Given the description of an element on the screen output the (x, y) to click on. 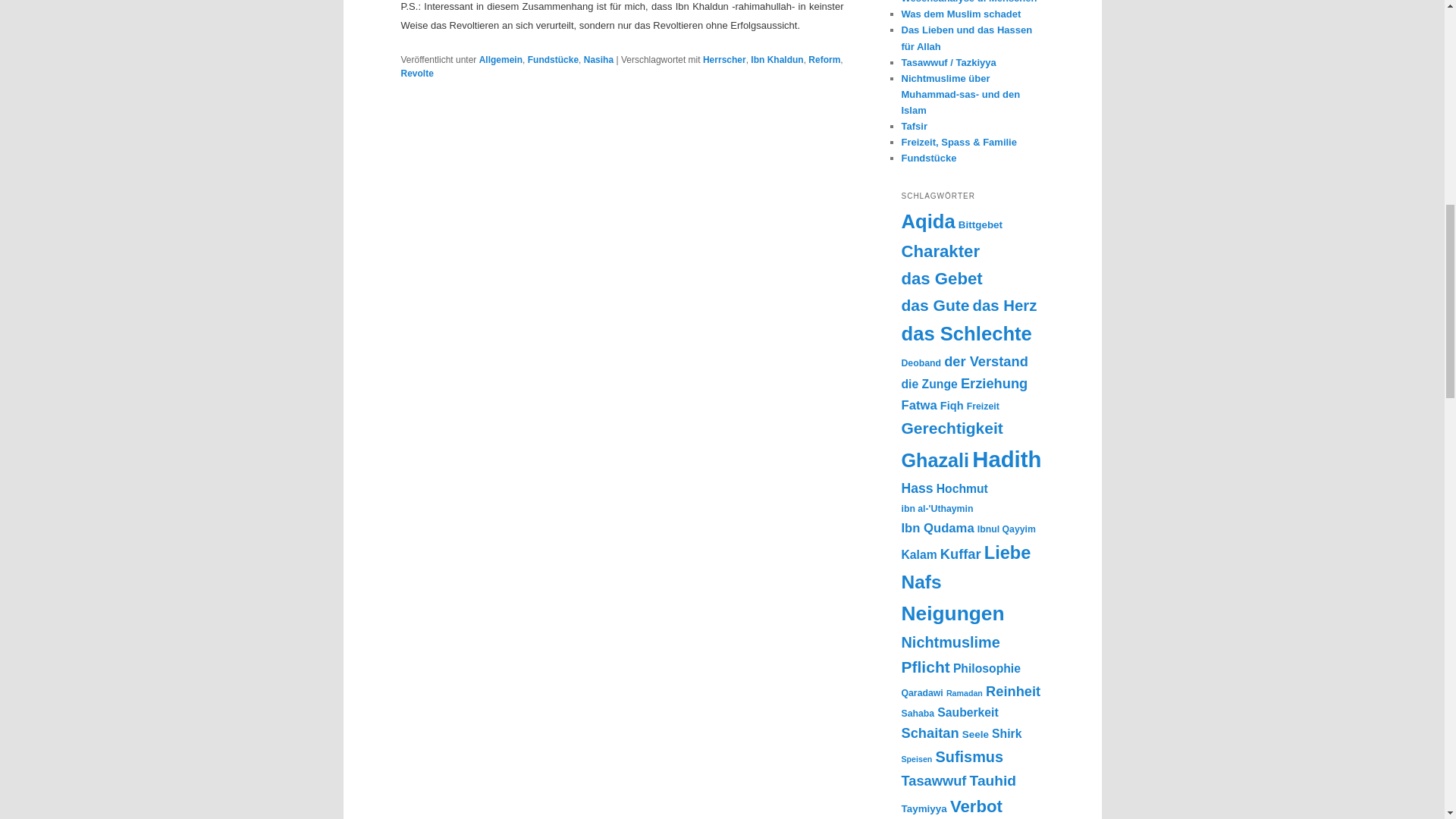
Bittgebet (980, 224)
Allgemein (500, 59)
Reform (824, 59)
Ibn Khaldun (777, 59)
Nasiha (597, 59)
Was dem Muslim schadet (960, 13)
Herrscher (724, 59)
Revolte (416, 72)
Aqida (928, 220)
Tafsir (913, 125)
